Given the description of an element on the screen output the (x, y) to click on. 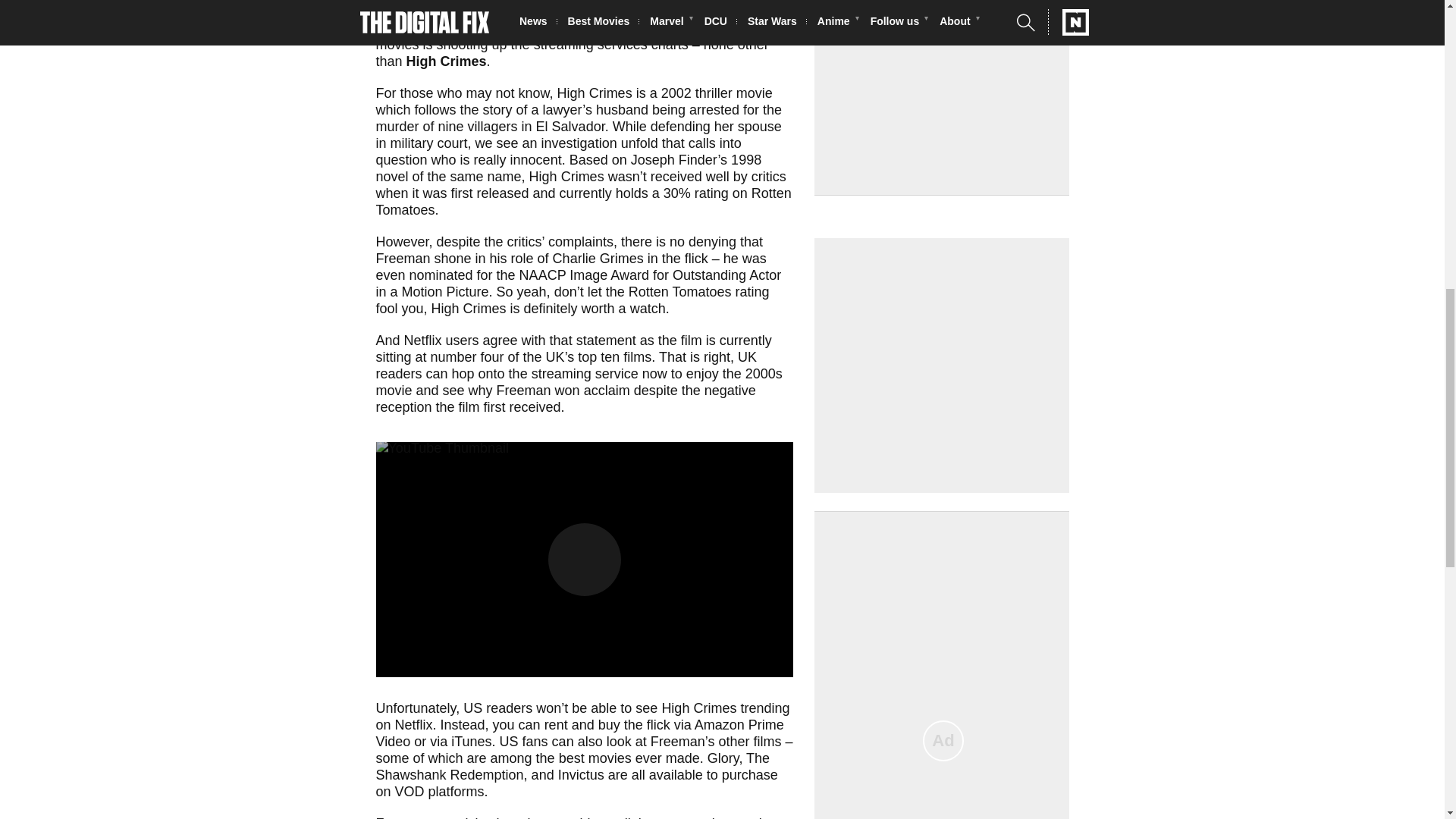
thriller movie (734, 92)
streaming services (590, 44)
Rotten Tomatoes (583, 201)
